Given the description of an element on the screen output the (x, y) to click on. 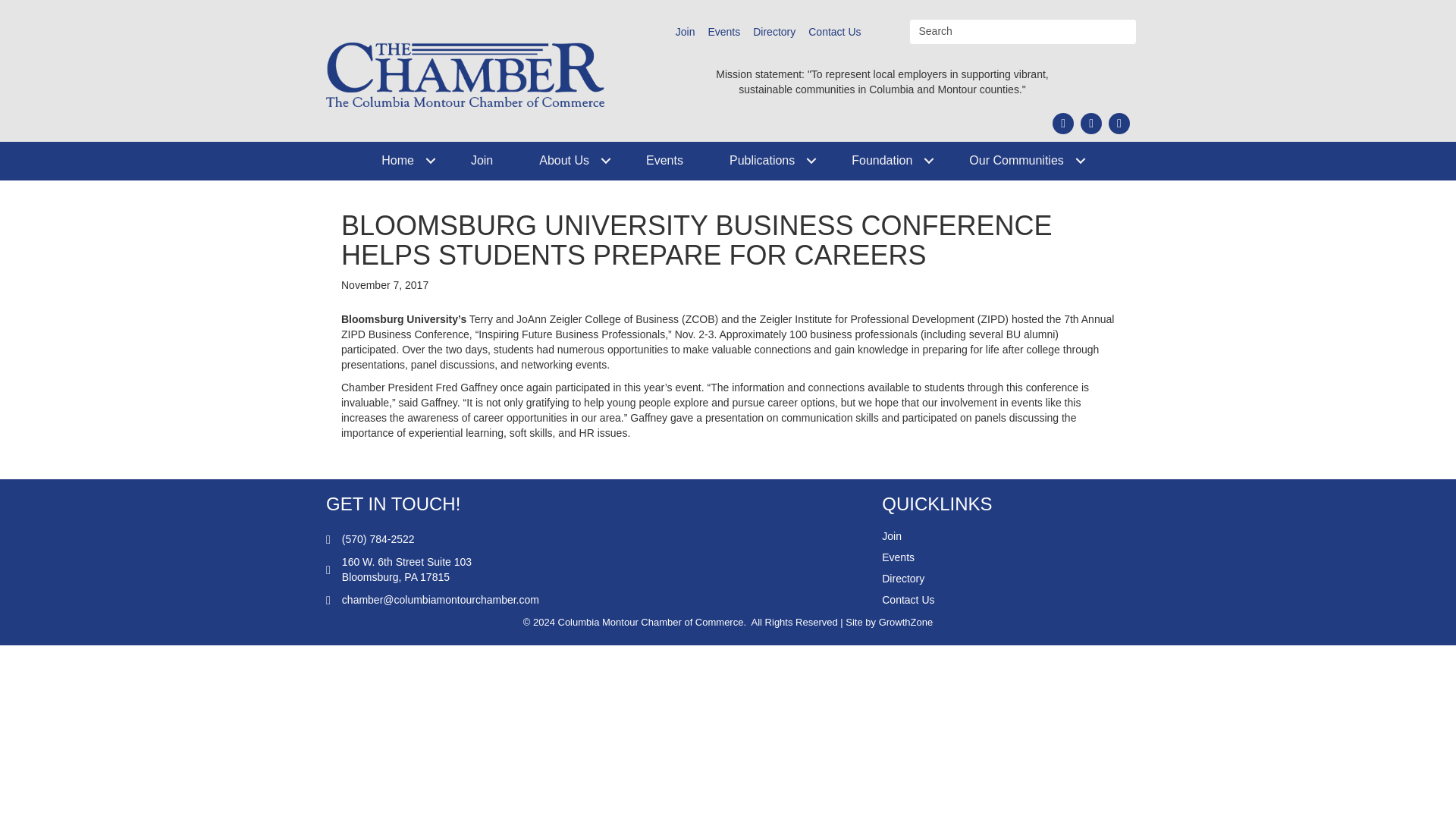
Contact Us (834, 32)
About Us (569, 160)
Join (685, 32)
Join (481, 160)
Directory (774, 32)
Foundation (886, 160)
Events (664, 160)
Publications (767, 160)
Events (723, 32)
Our Communities (1021, 160)
Home (402, 160)
